Given the description of an element on the screen output the (x, y) to click on. 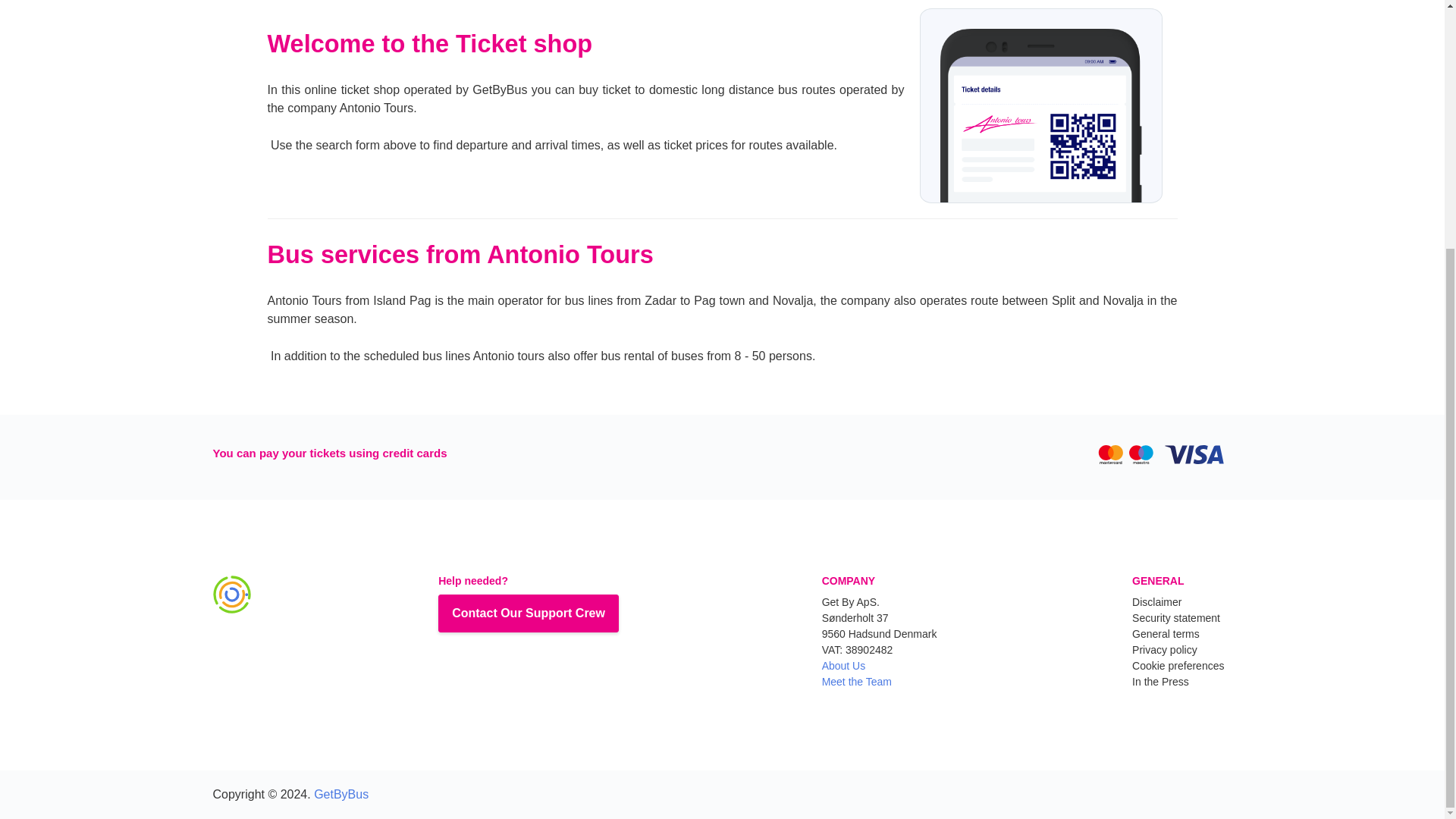
In the Press (1160, 681)
Meet the Team (879, 682)
Security statement (1176, 617)
General terms (1165, 633)
GetByBus (341, 793)
Contact Our Support Crew (528, 613)
About Us (879, 666)
Privacy policy (1164, 649)
Cookie preferences (1178, 665)
Disclaimer (1156, 602)
